Given the description of an element on the screen output the (x, y) to click on. 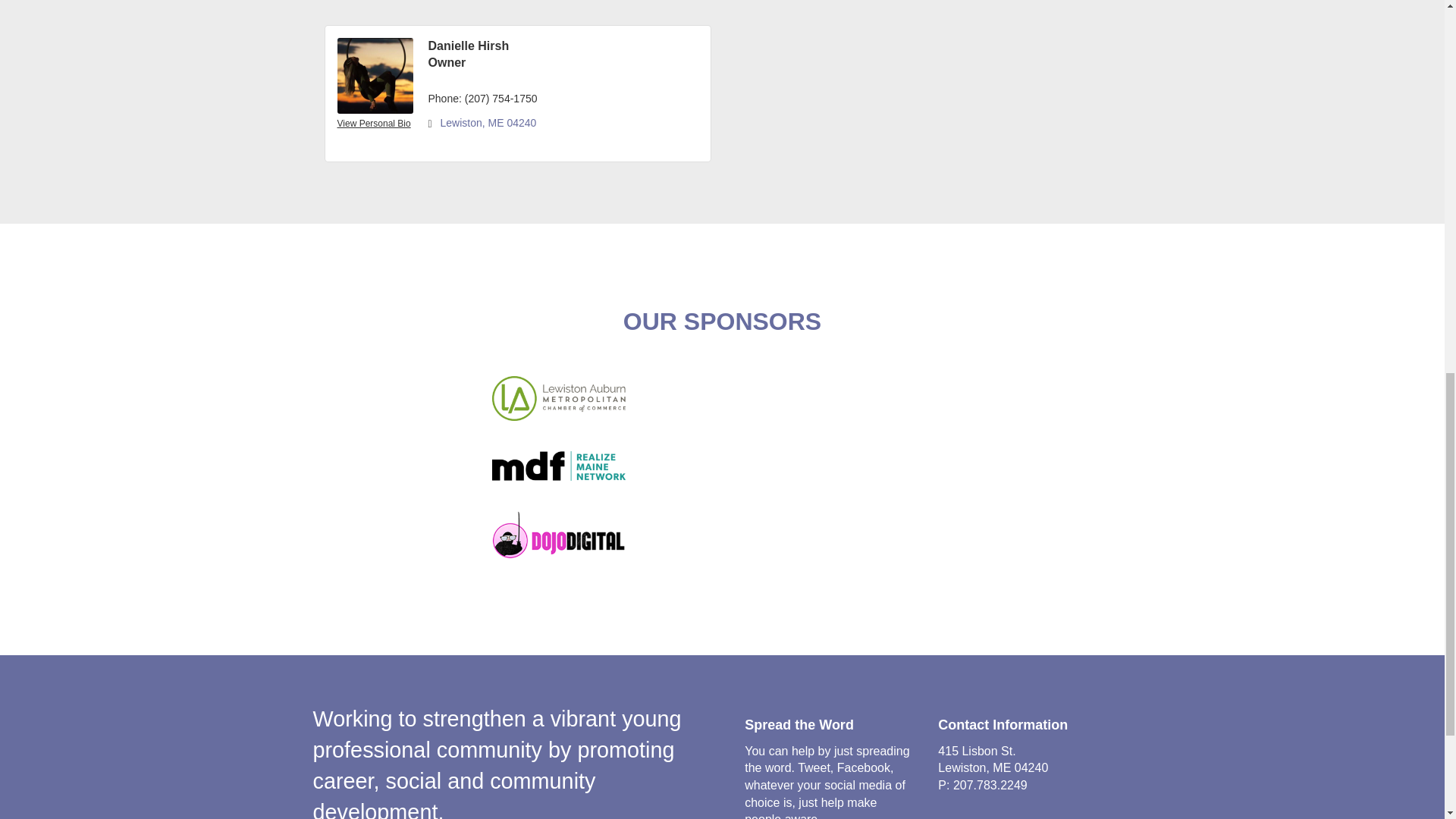
Dojo Digital (558, 535)
LA Metro Chamber (558, 398)
Lewiston ME 04240 (568, 123)
Realize Maine Network (558, 465)
